Given the description of an element on the screen output the (x, y) to click on. 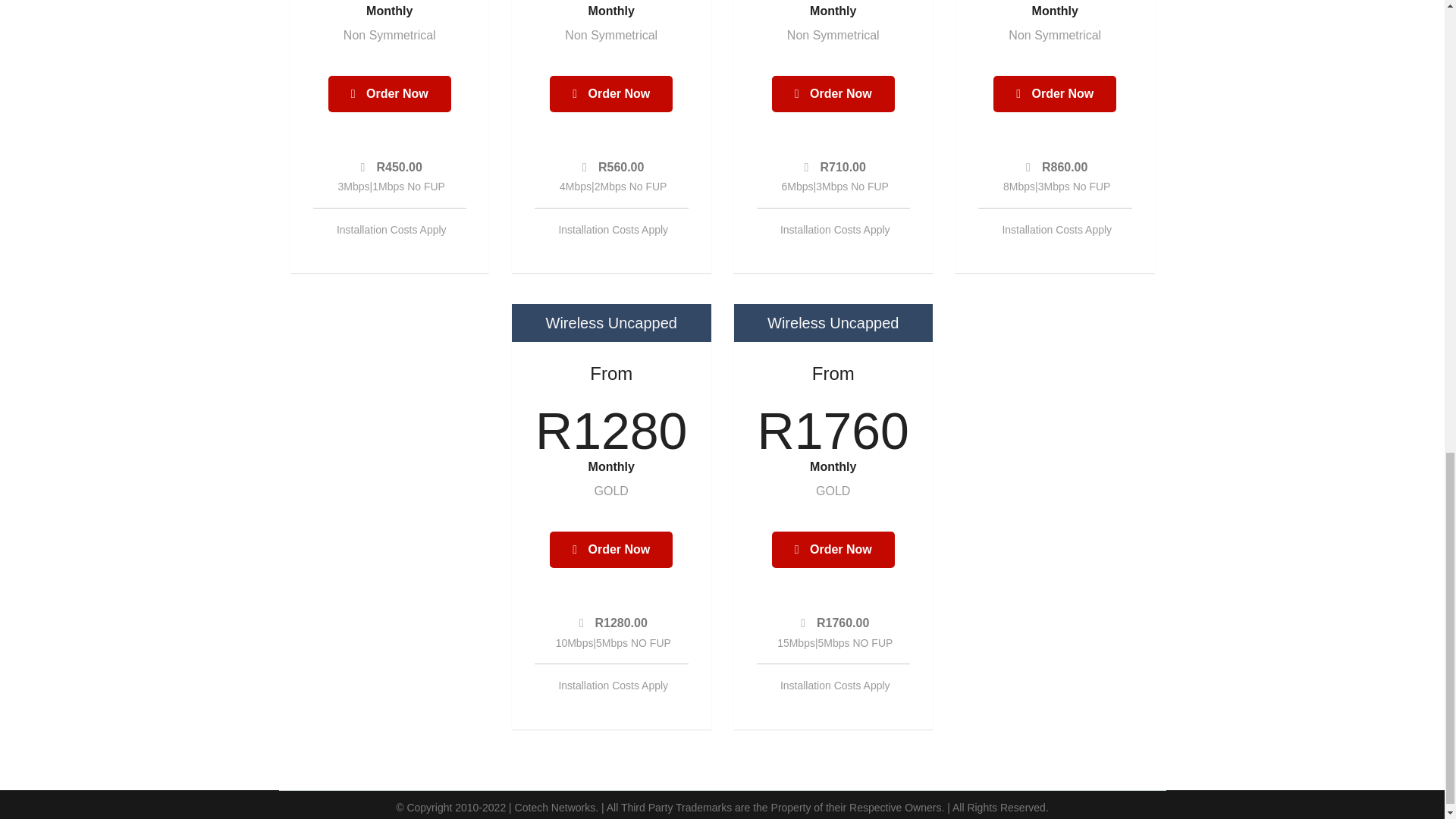
Order Now (611, 549)
Order Now (390, 94)
Order Now (611, 94)
Order Now (833, 549)
Order Now (1054, 94)
Order Now (833, 94)
